Given the description of an element on the screen output the (x, y) to click on. 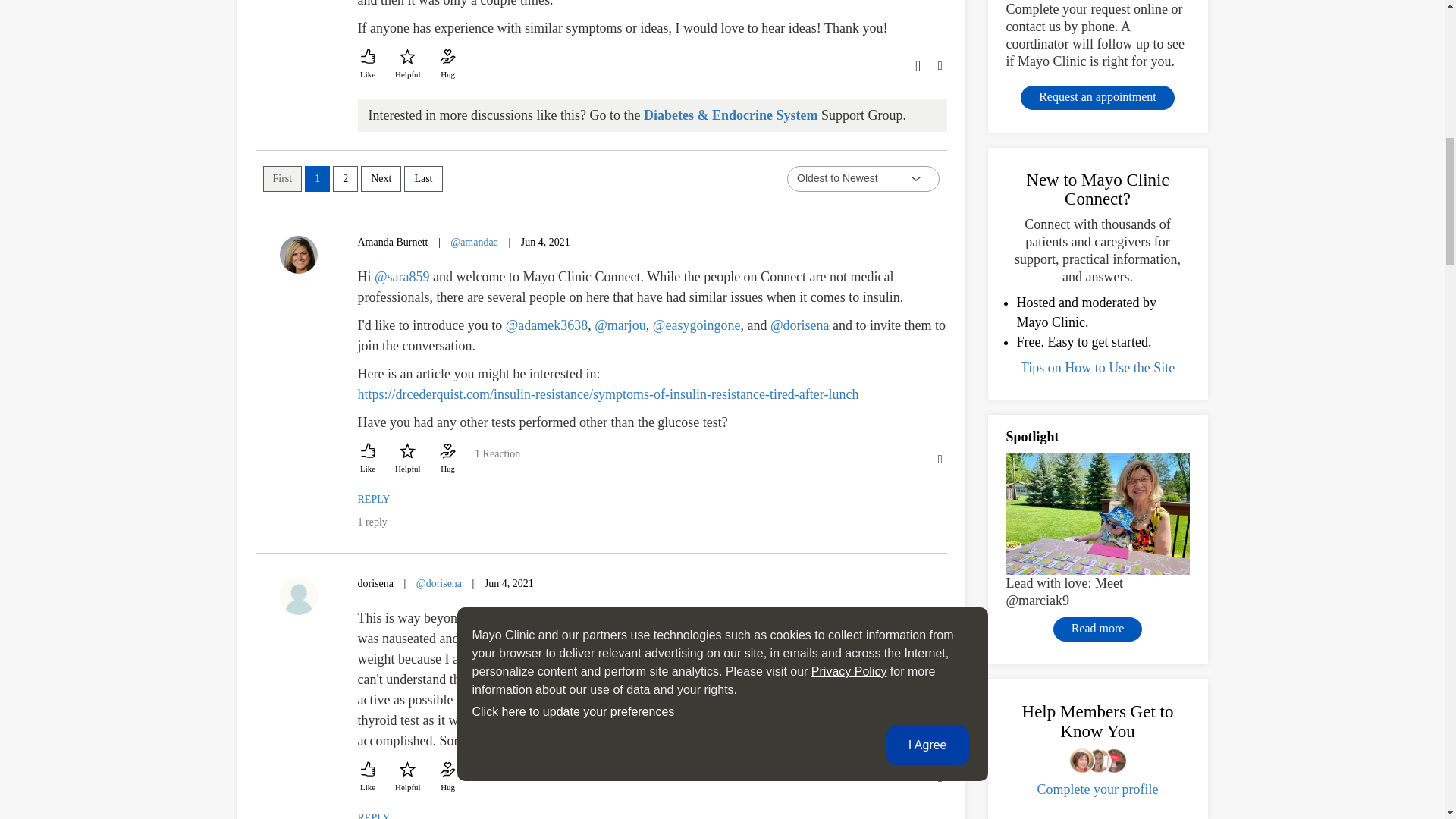
See who reacted to this comment (496, 461)
Last (423, 178)
2 (345, 178)
1 (317, 178)
First (281, 178)
Next (381, 178)
Manage notification settings for this discussion (916, 63)
